Given the description of an element on the screen output the (x, y) to click on. 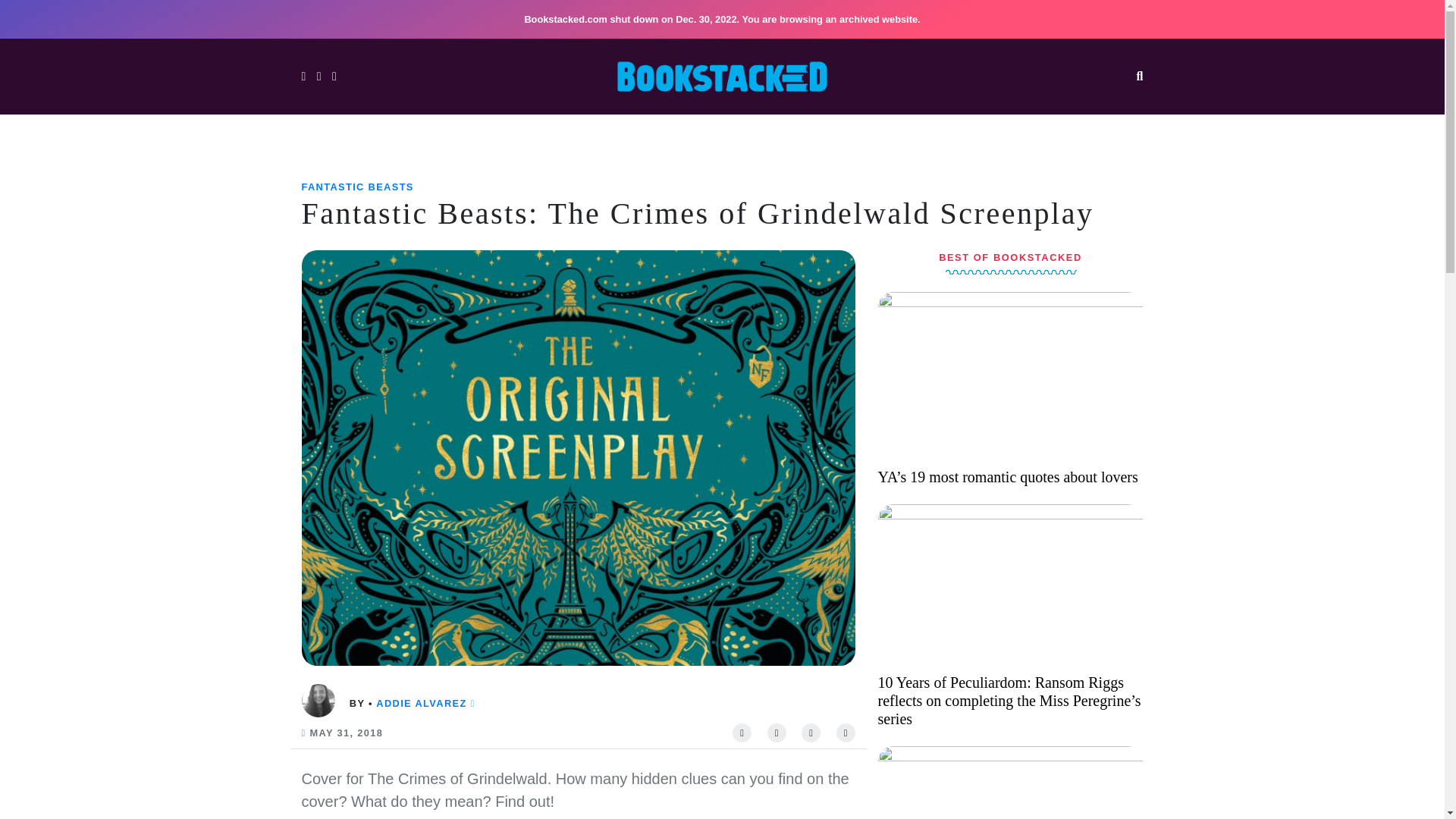
FANTASTIC BEASTS (357, 186)
ADDIE ALVAREZ (420, 703)
Posts by Addie Alvarez (420, 703)
